Given the description of an element on the screen output the (x, y) to click on. 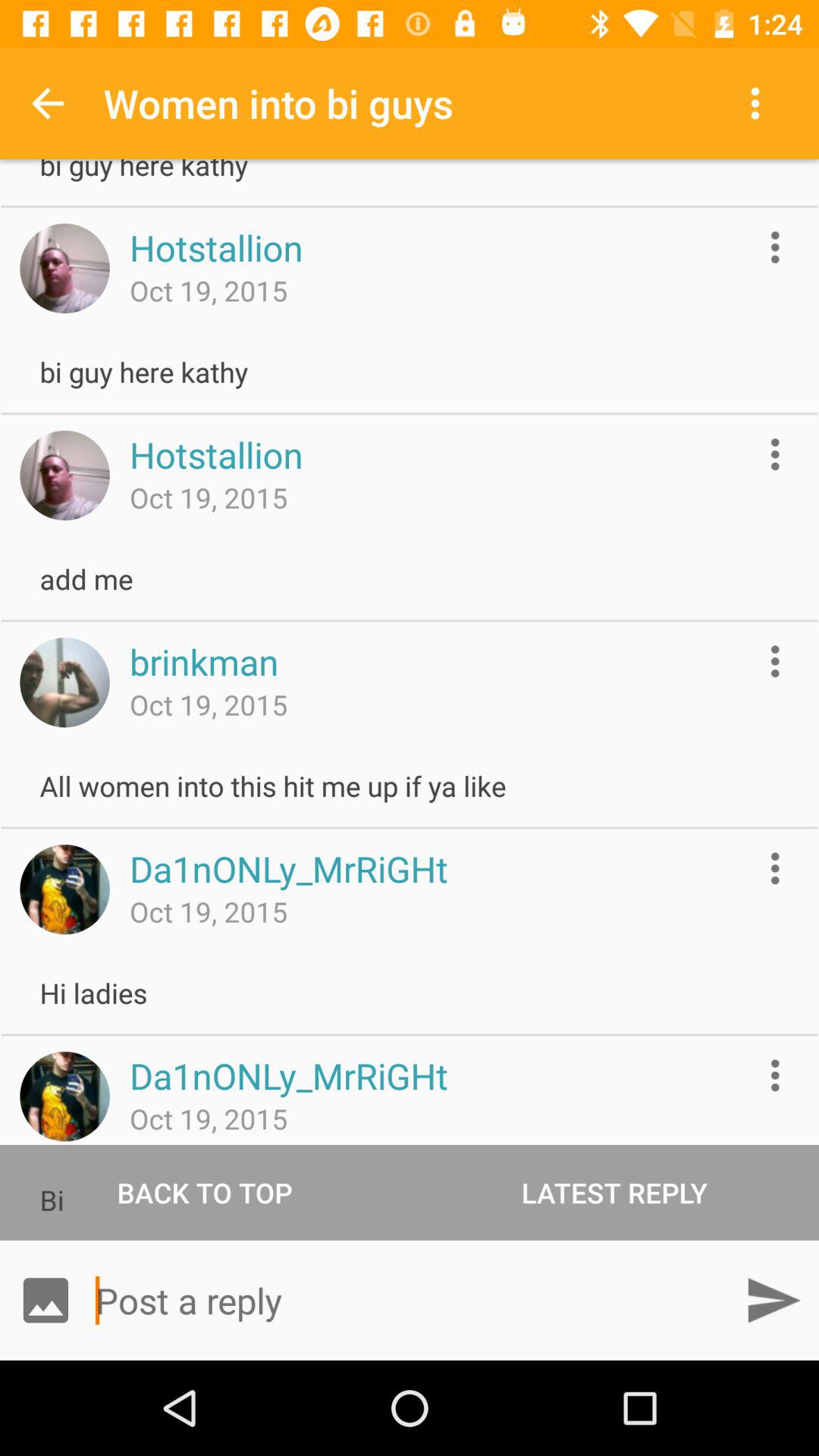
open photos (45, 1300)
